Given the description of an element on the screen output the (x, y) to click on. 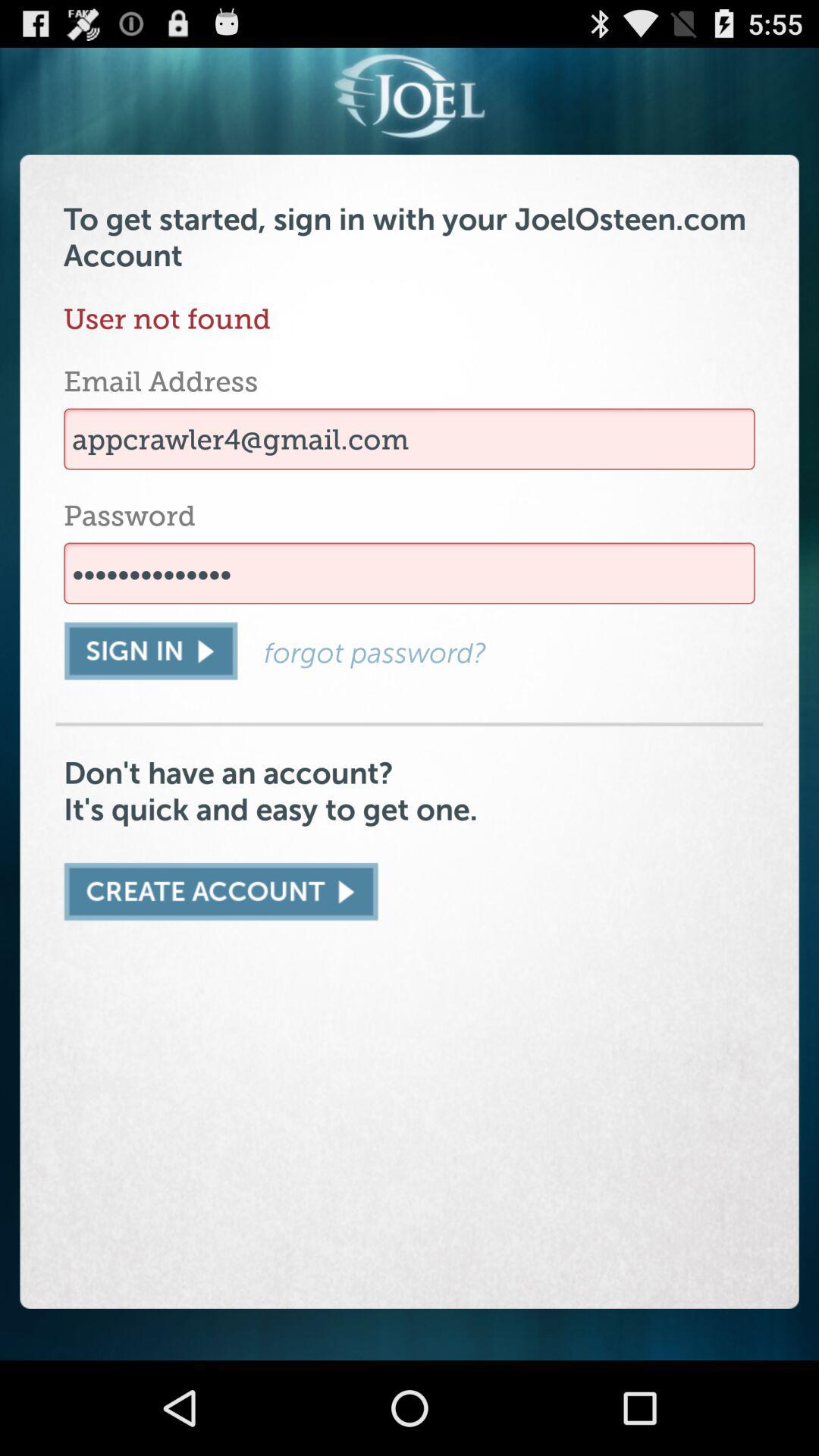
create new account (220, 891)
